Given the description of an element on the screen output the (x, y) to click on. 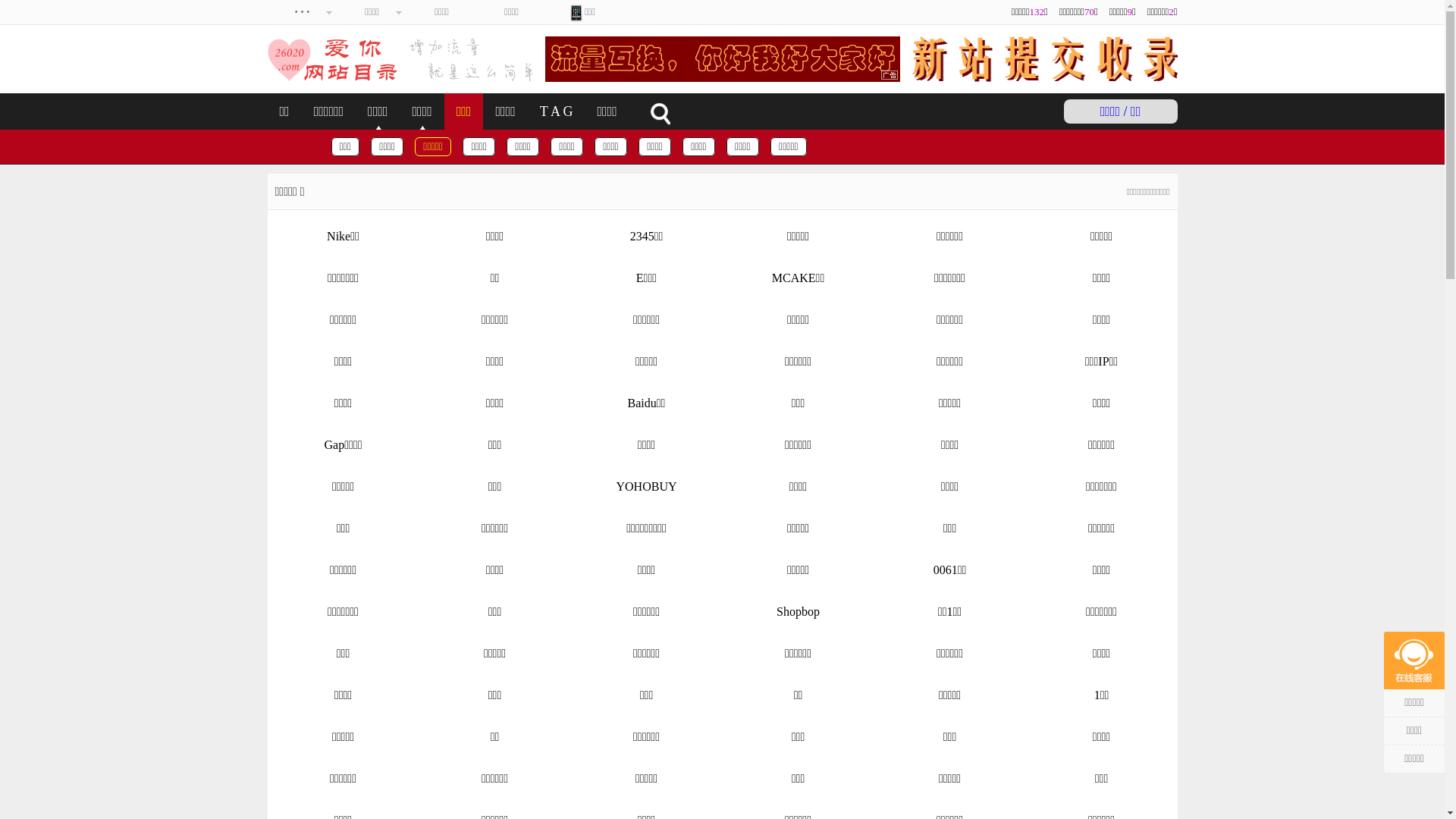
YOHOBUY Element type: text (645, 486)
Shopbop Element type: text (797, 611)
T A G Element type: text (556, 111)
